Given the description of an element on the screen output the (x, y) to click on. 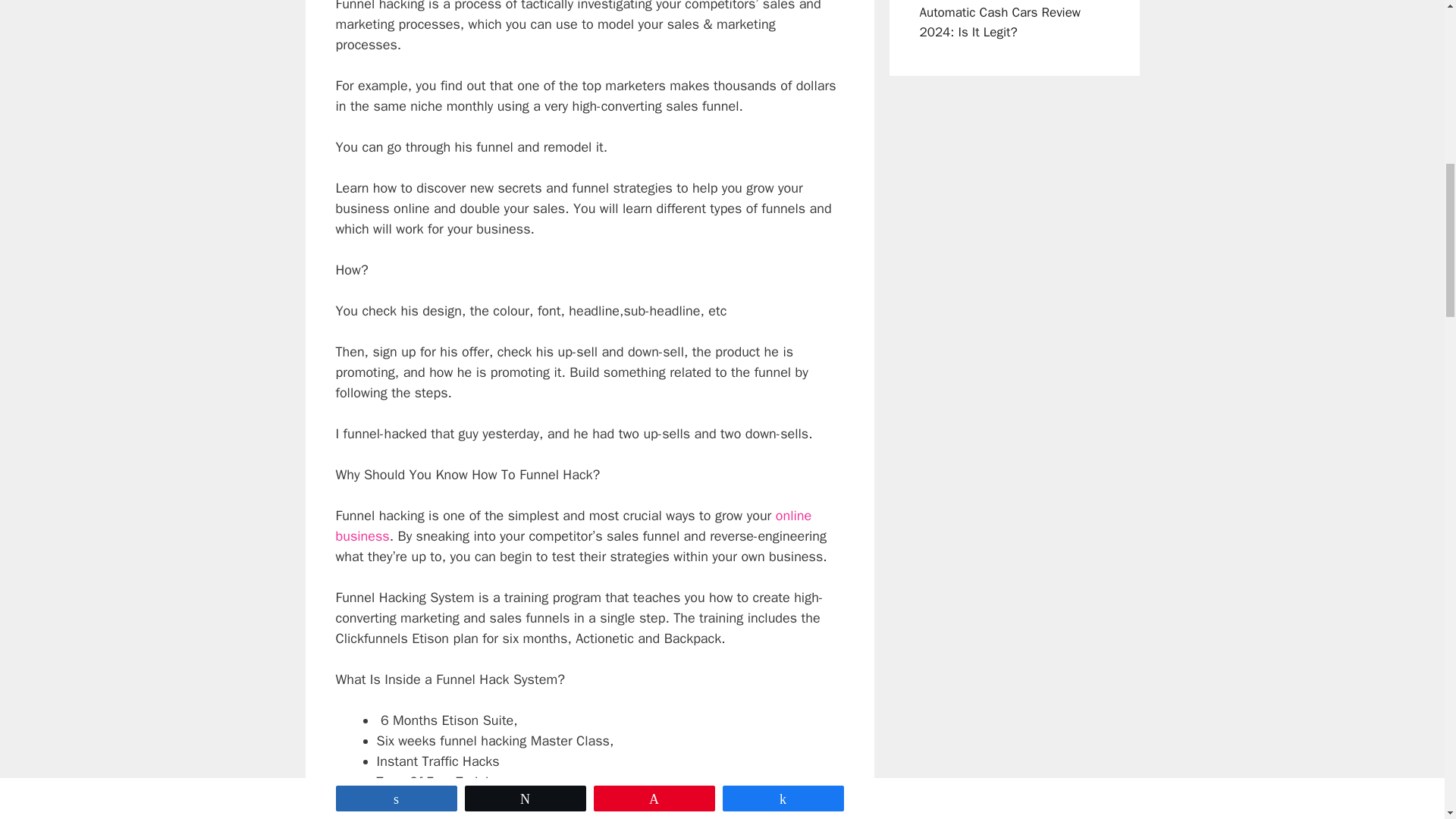
Scroll back to top (1406, 720)
online business (572, 525)
